Given the description of an element on the screen output the (x, y) to click on. 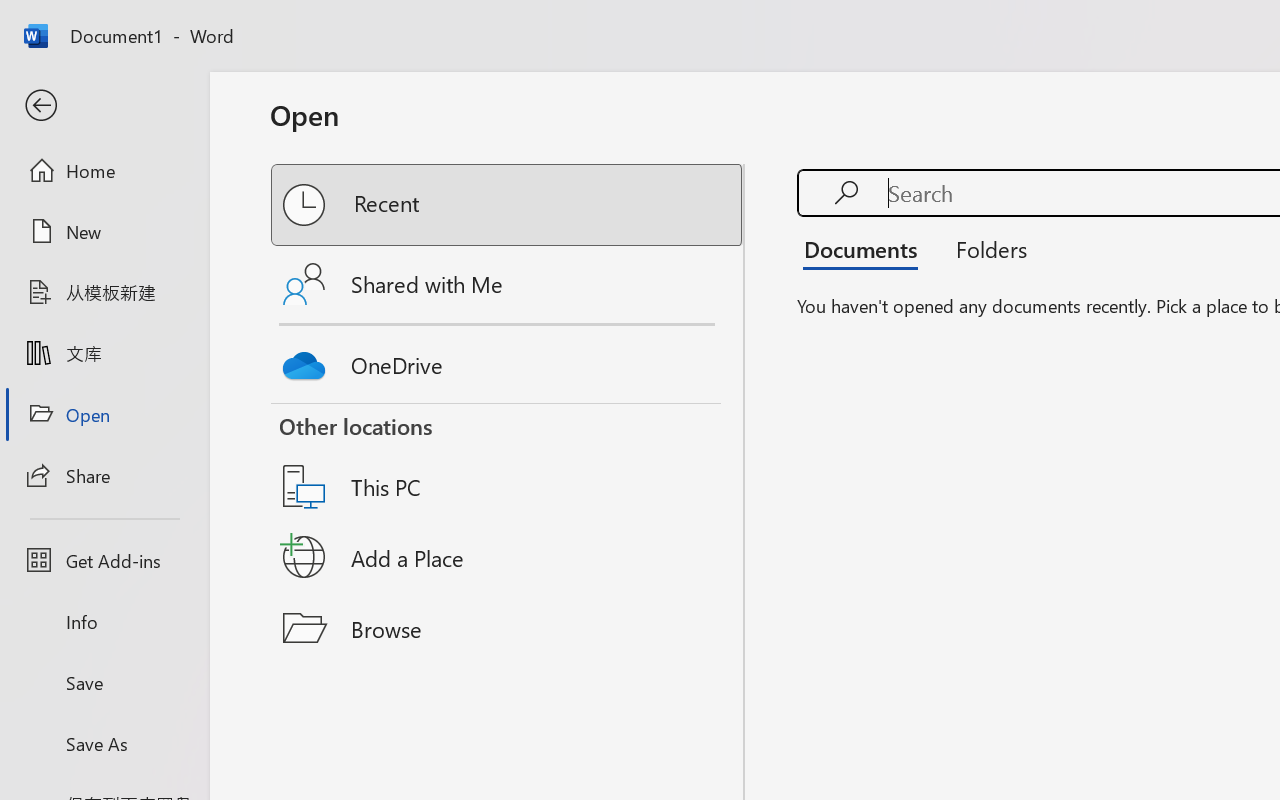
New (104, 231)
Back (104, 106)
This PC (507, 461)
Add a Place (507, 557)
Documents (866, 248)
Browse (507, 627)
Get Add-ins (104, 560)
Shared with Me (507, 283)
Save As (104, 743)
